Given the description of an element on the screen output the (x, y) to click on. 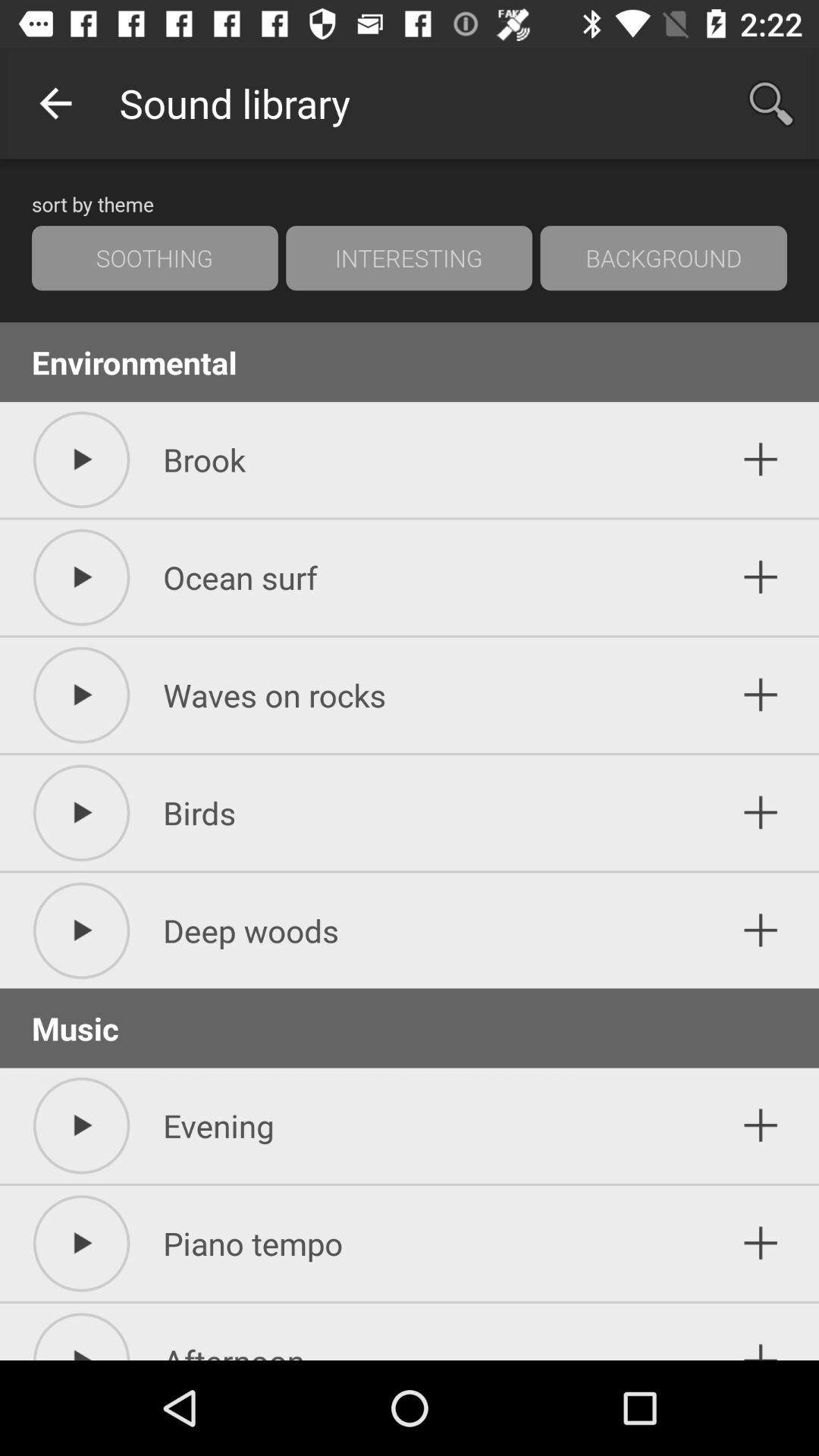
turn on interesting icon (409, 257)
